Given the description of an element on the screen output the (x, y) to click on. 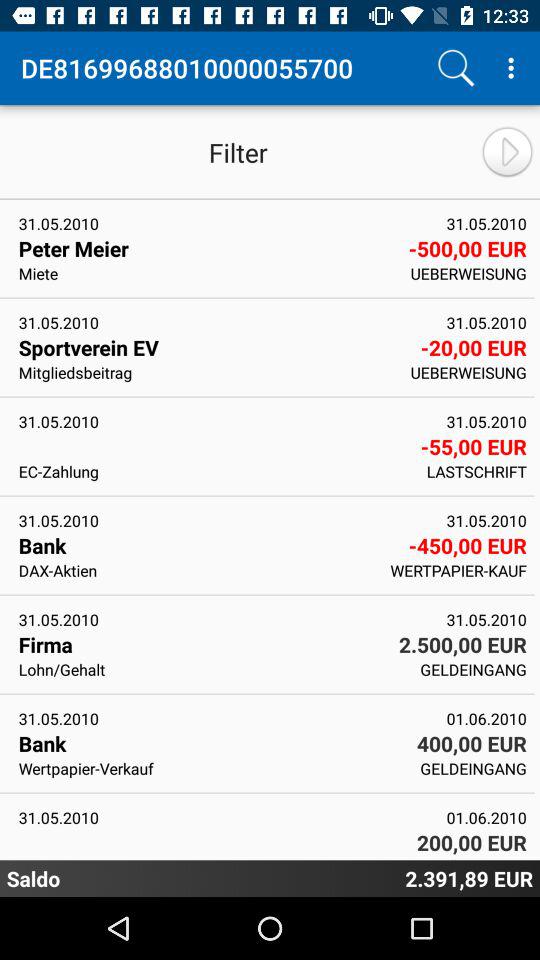
click icon above the 31.05.2010 item (212, 669)
